Given the description of an element on the screen output the (x, y) to click on. 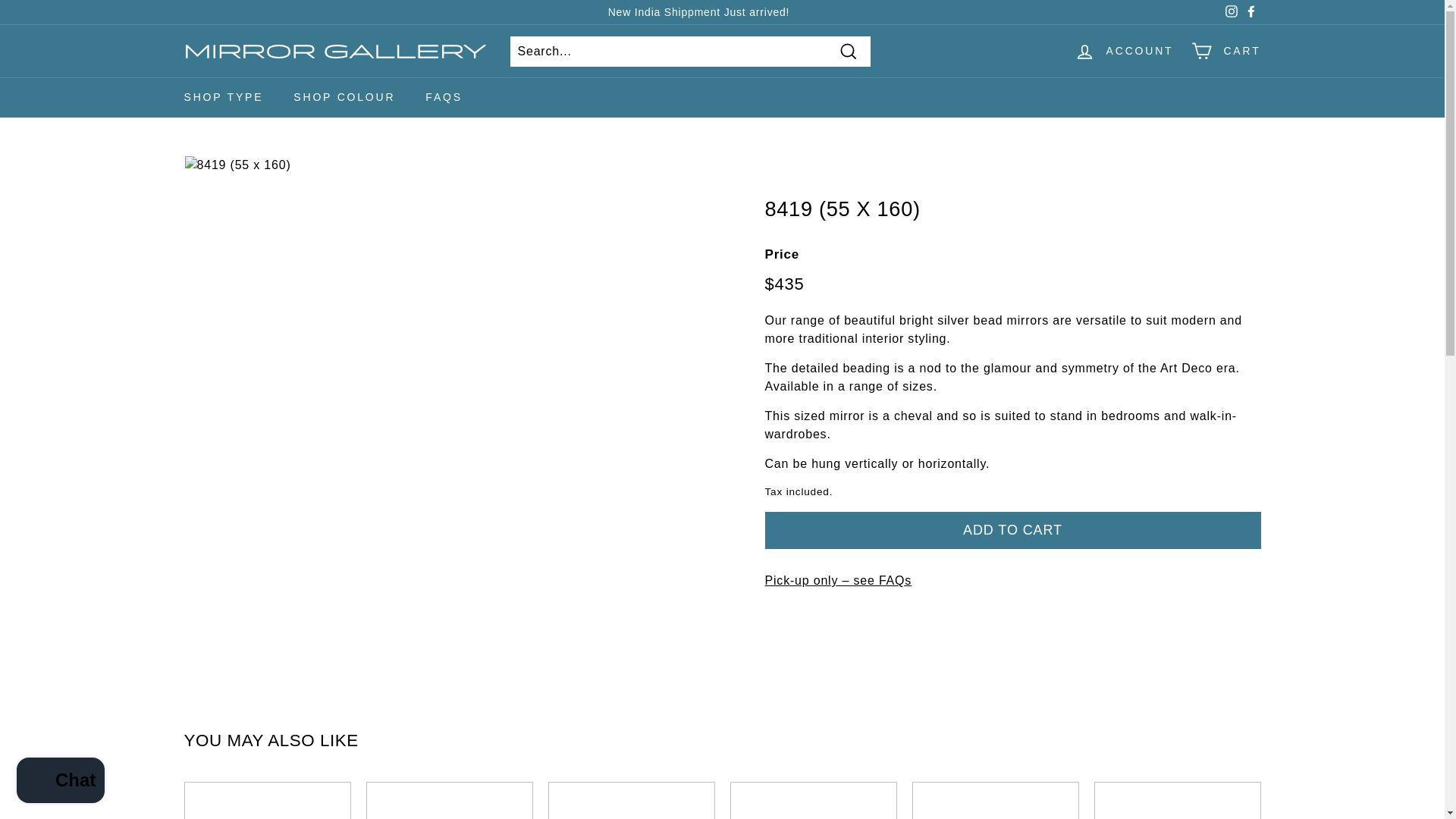
Delivery Policy (837, 580)
SHOP COLOUR (344, 96)
ACCOUNT (1123, 50)
SHOP TYPE (223, 96)
